Given the description of an element on the screen output the (x, y) to click on. 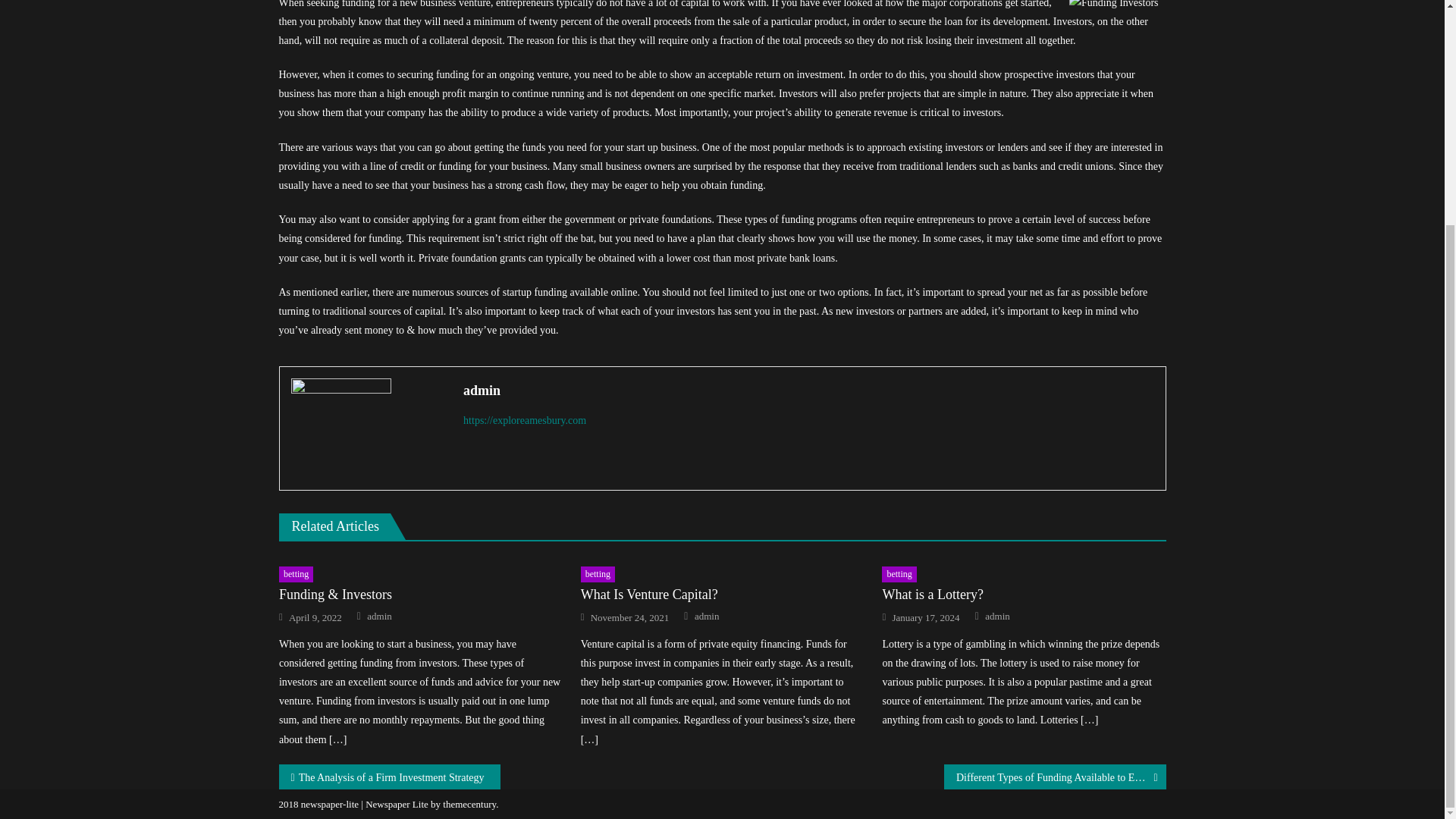
admin (808, 390)
admin (706, 616)
January 17, 2024 (925, 617)
November 24, 2021 (630, 617)
admin (378, 616)
betting (296, 574)
admin (997, 616)
What is a Lottery? (1024, 594)
betting (898, 574)
betting (597, 574)
